Given the description of an element on the screen output the (x, y) to click on. 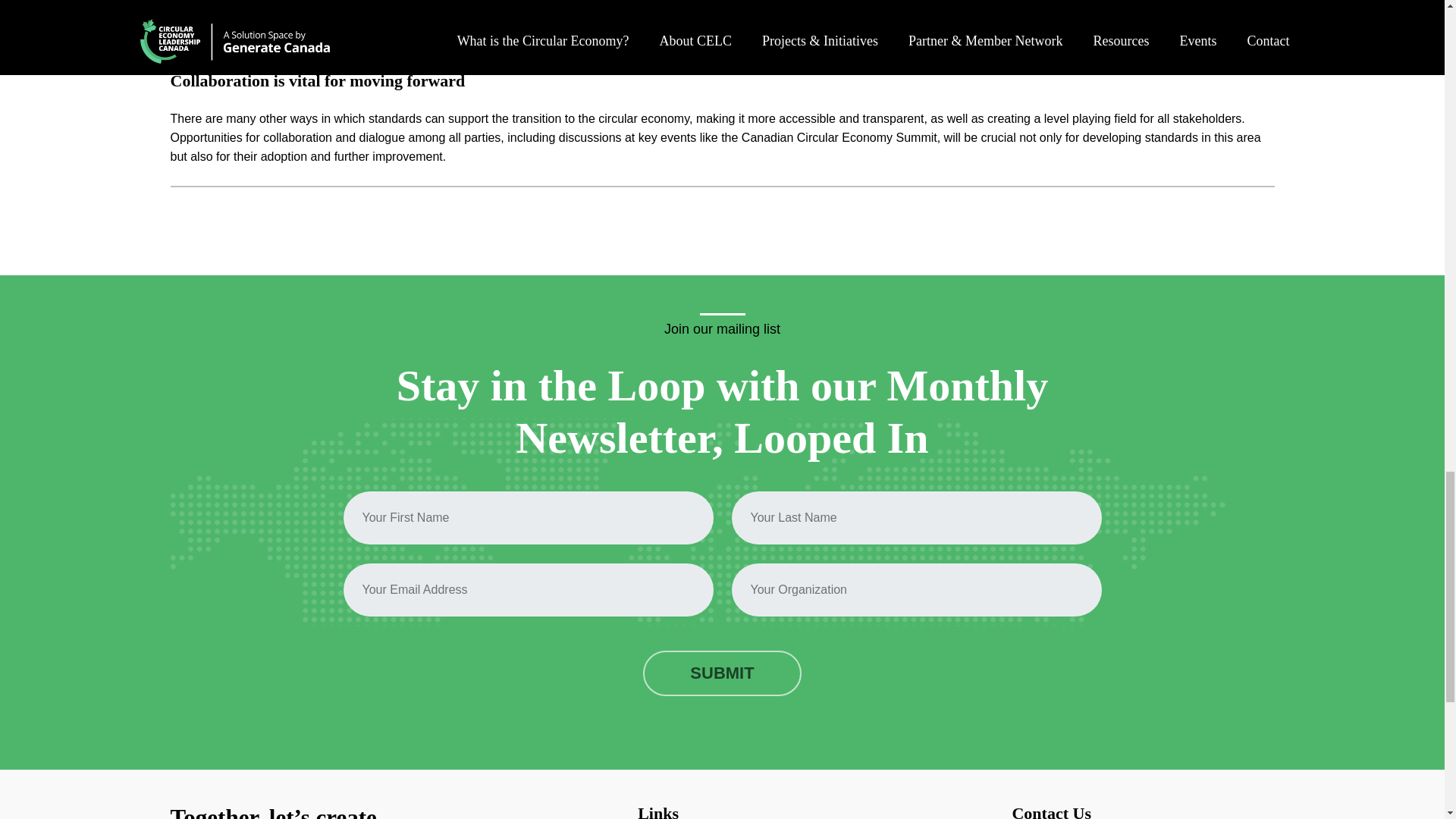
Submit (721, 673)
circularity and recycling of lithium-ion batteries (488, 22)
Submit (721, 673)
